Given the description of an element on the screen output the (x, y) to click on. 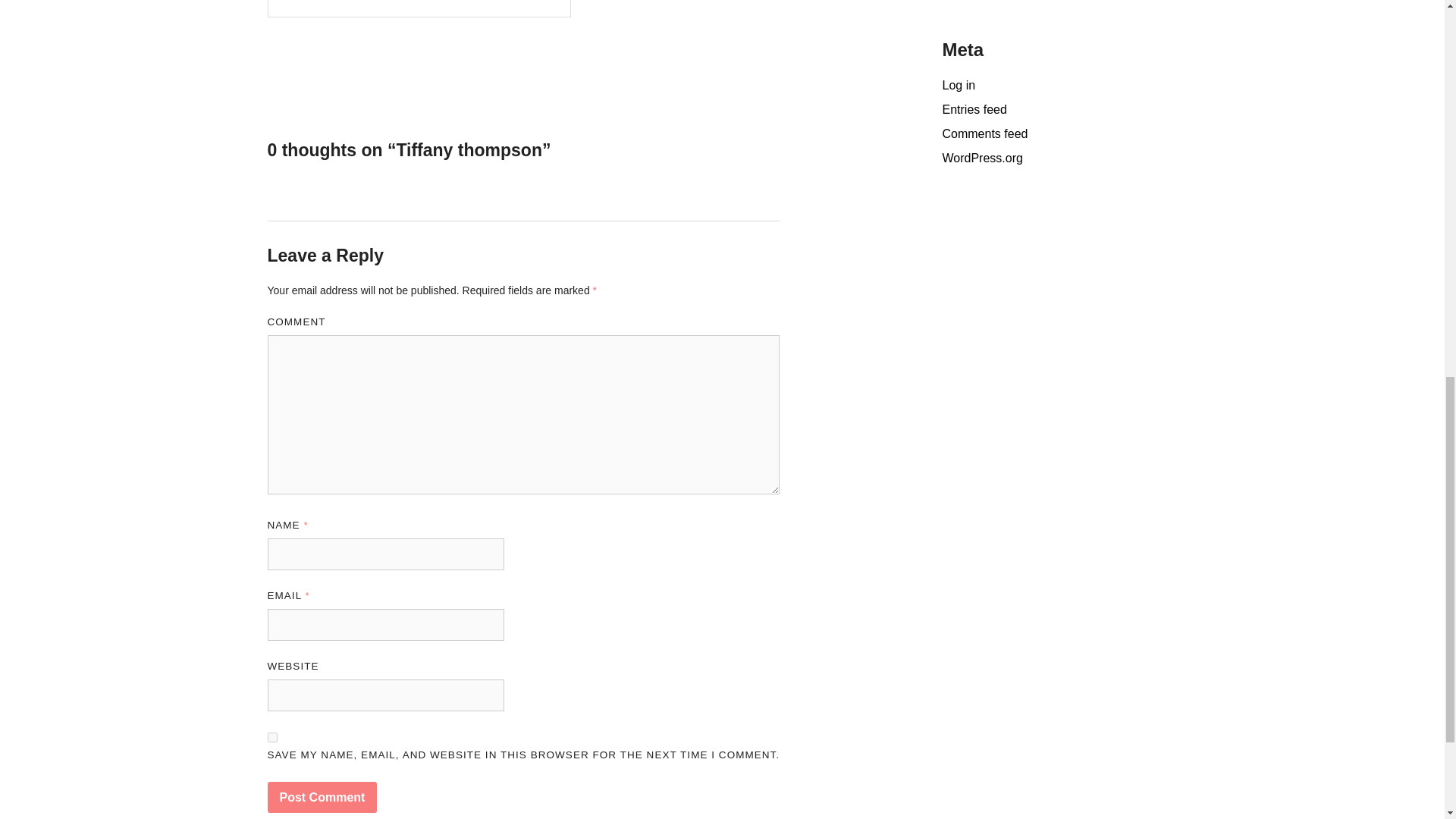
Post Comment (321, 798)
Log in (958, 84)
Entries feed (974, 109)
WordPress.org (982, 157)
yes (271, 737)
Comments feed (984, 133)
Post Comment (321, 798)
